Given the description of an element on the screen output the (x, y) to click on. 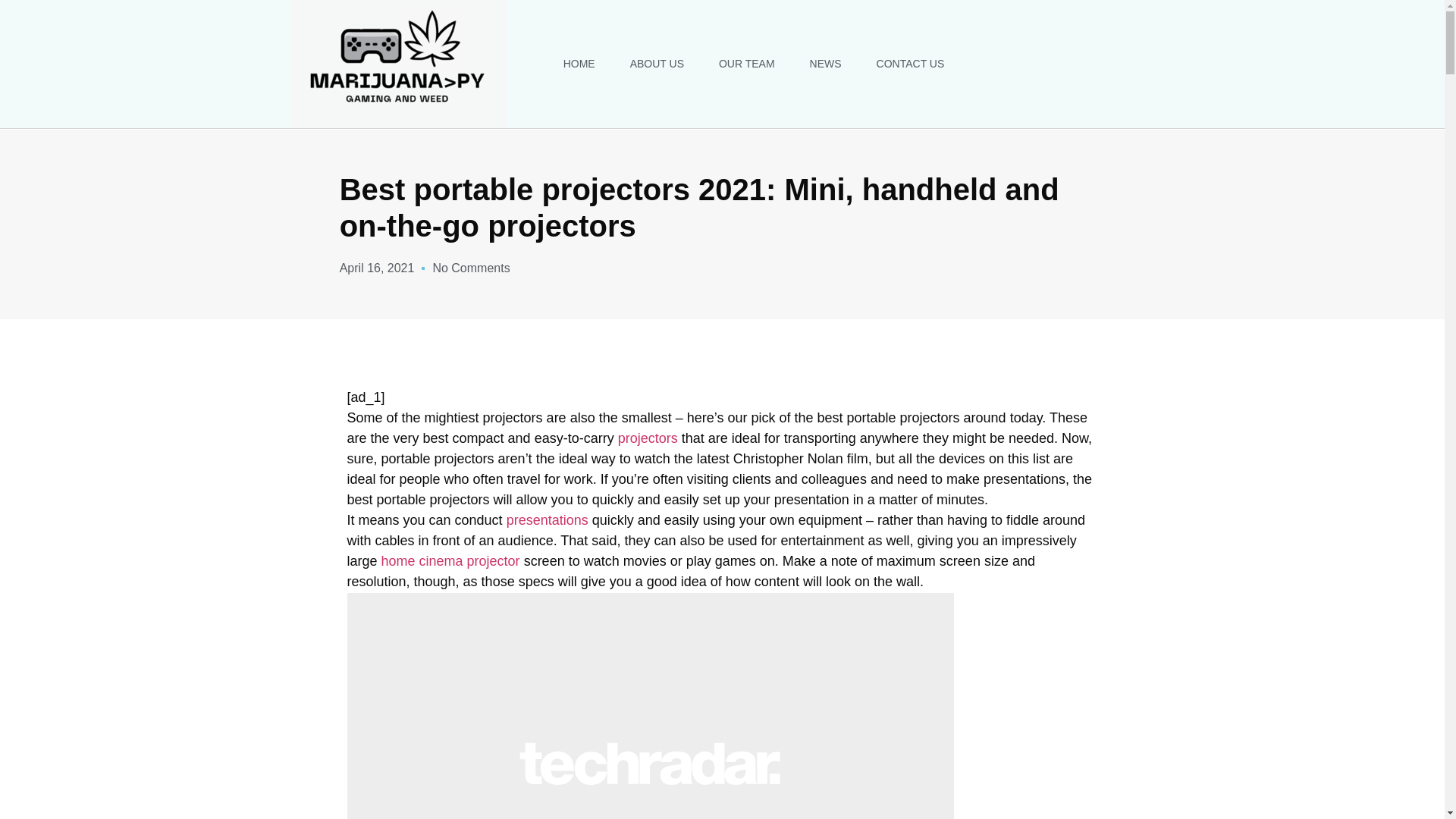
projectors (647, 437)
April 16, 2021 (376, 268)
OUR TEAM (746, 63)
NEWS (825, 63)
presentations (547, 519)
CONTACT US (910, 63)
home cinema projector (450, 560)
No Comments (470, 268)
ABOUT US (656, 63)
HOME (579, 63)
